Given the description of an element on the screen output the (x, y) to click on. 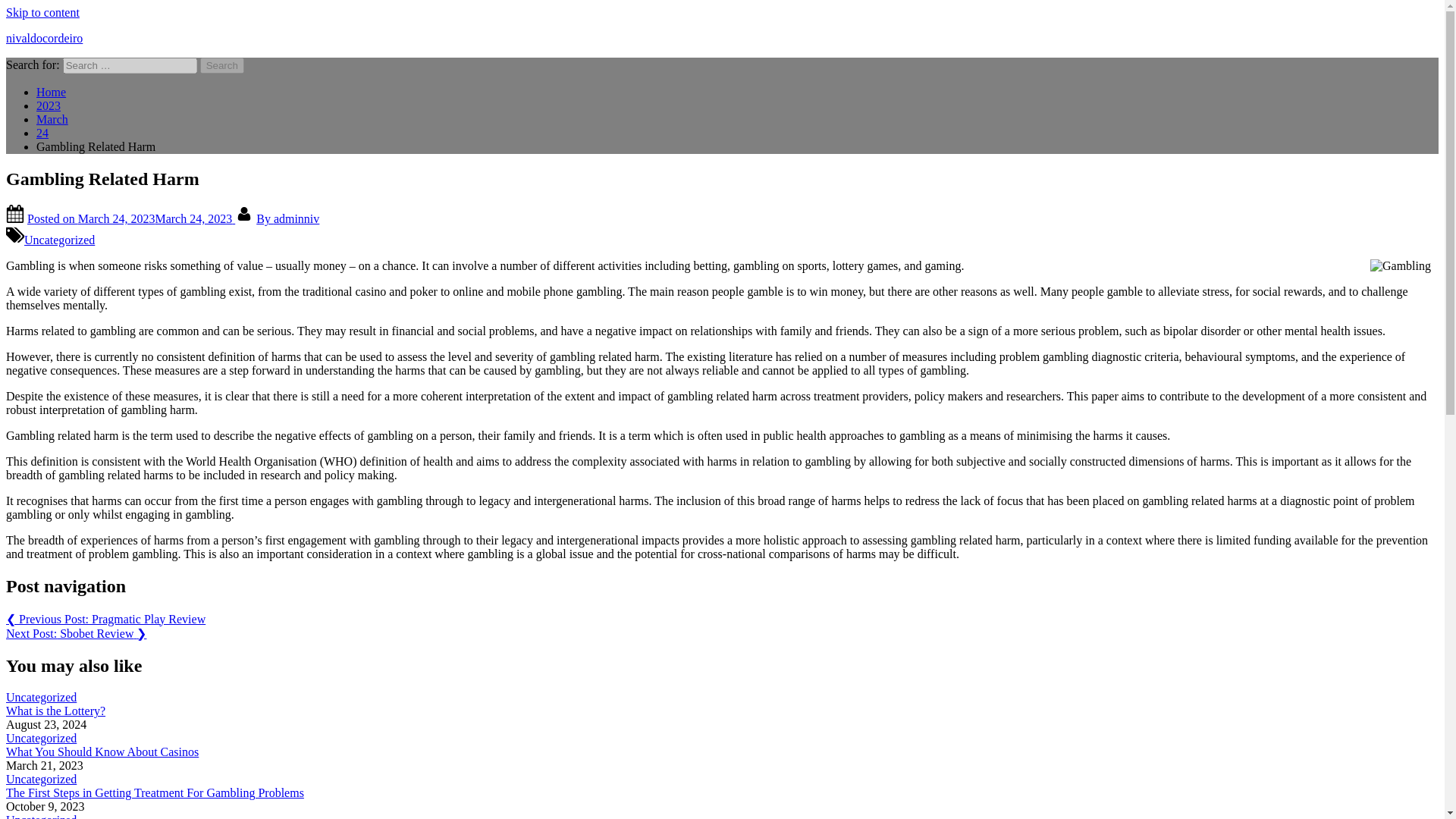
The First Steps in Getting Treatment For Gambling Problems (154, 792)
Search (222, 65)
Uncategorized (41, 697)
24 (42, 132)
Posted on March 24, 2023March 24, 2023 (130, 218)
Home (50, 91)
Uncategorized (41, 779)
March (52, 119)
Uncategorized (41, 816)
Skip to content (42, 11)
